Given the description of an element on the screen output the (x, y) to click on. 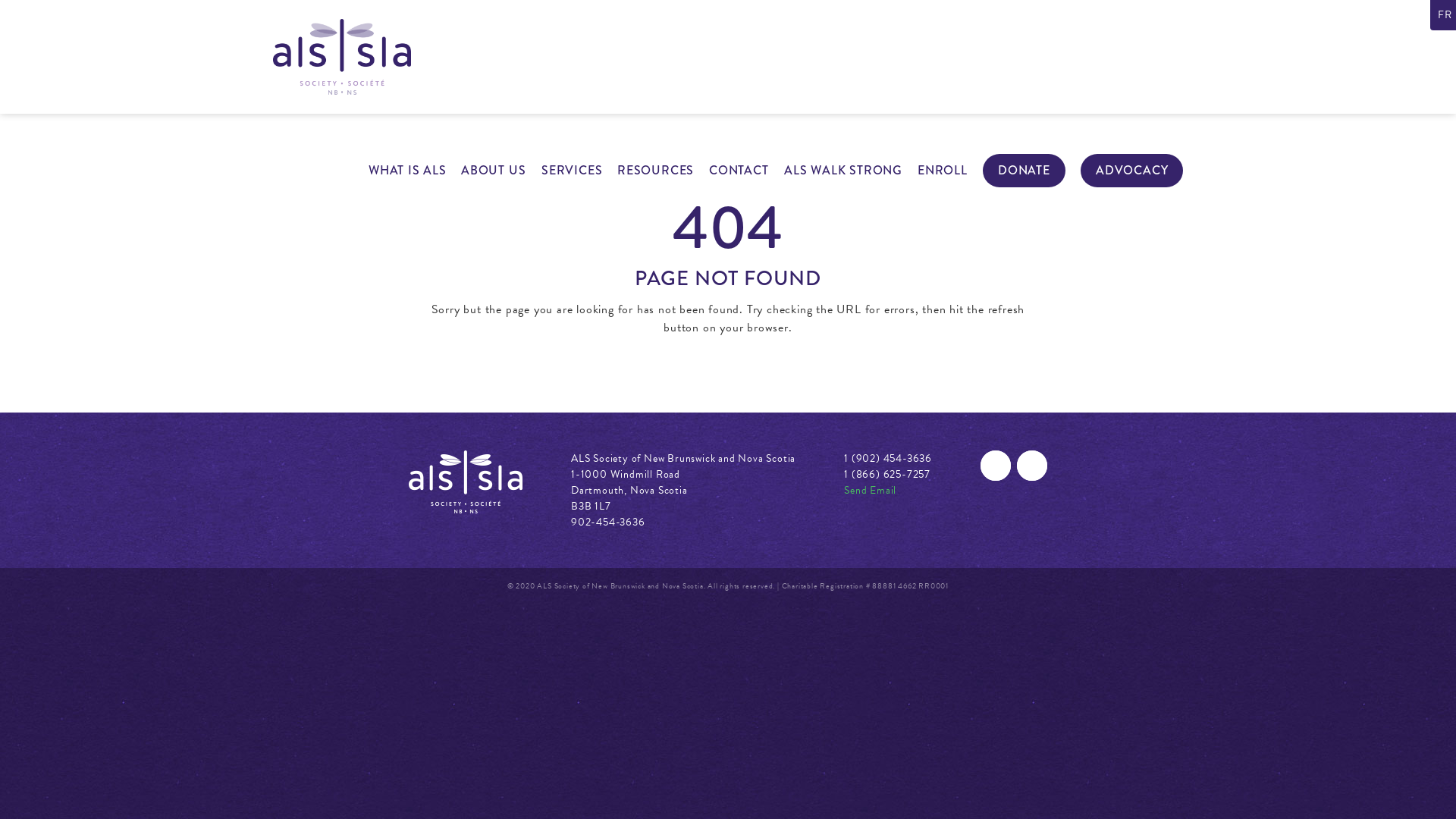
DONATE Element type: text (1023, 170)
RESOURCES Element type: text (655, 170)
1 (902) 454-3636 Element type: text (887, 458)
Send Email Element type: text (870, 490)
ALS WALK STRONG Element type: text (843, 170)
ADVOCACY Element type: text (1131, 170)
CONTACT Element type: text (738, 170)
ENROLL Element type: text (942, 170)
SERVICES Element type: text (571, 170)
ABOUT US Element type: text (493, 170)
WHAT IS ALS Element type: text (407, 170)
1 (866) 625-7257 Element type: text (887, 474)
FR Element type: text (1444, 14)
